Given the description of an element on the screen output the (x, y) to click on. 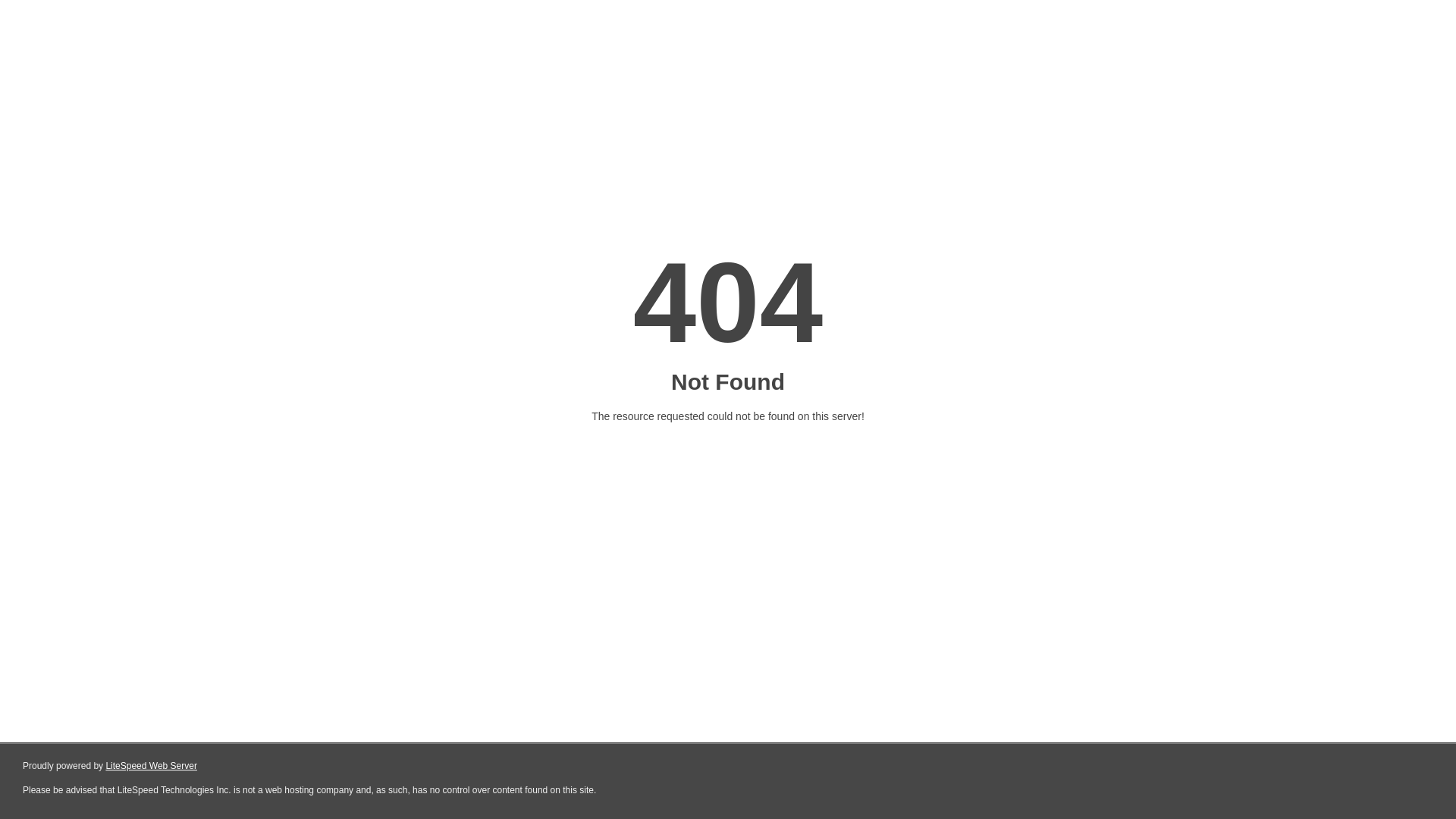
LiteSpeed Web Server Element type: text (151, 765)
